Given the description of an element on the screen output the (x, y) to click on. 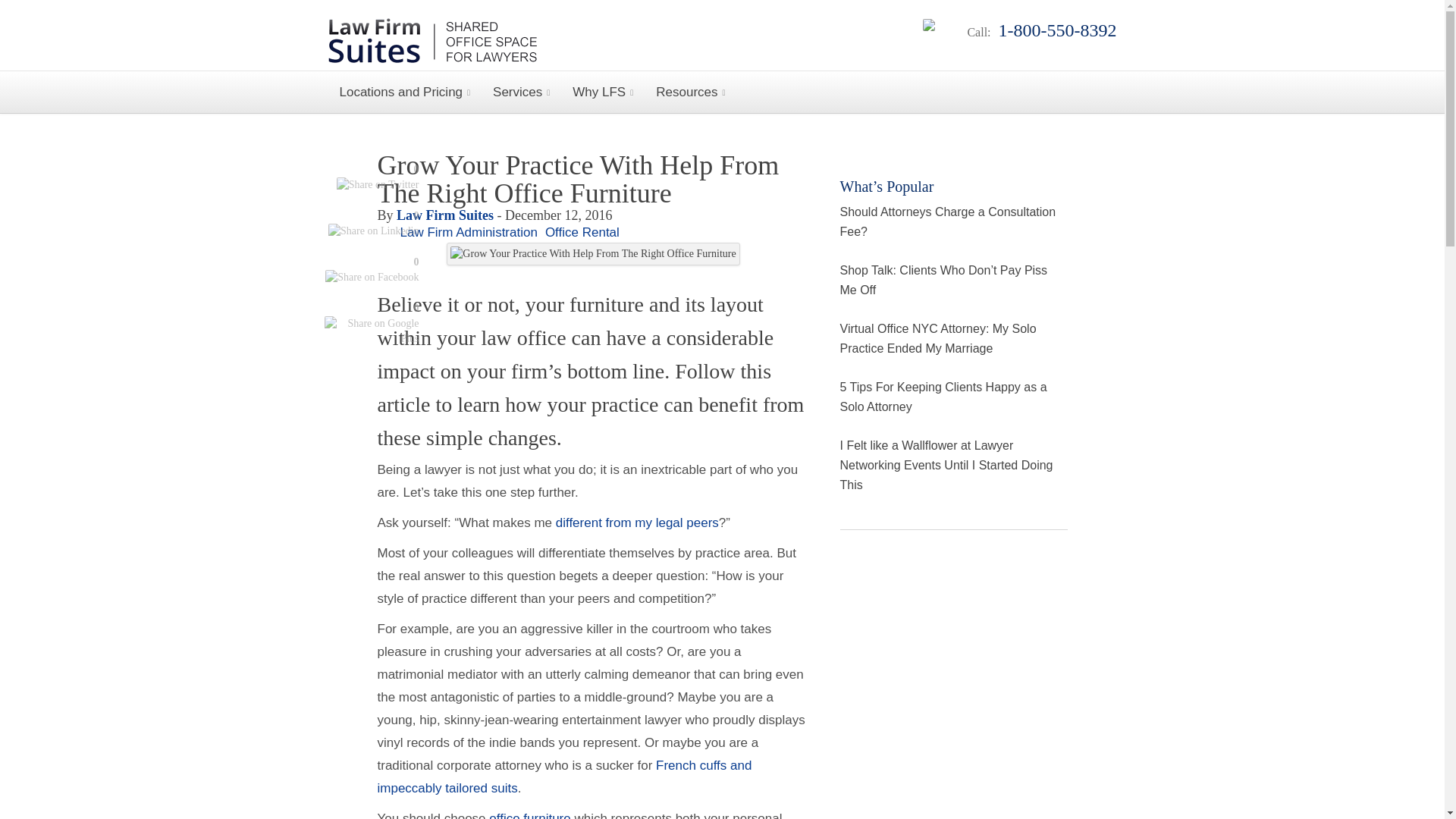
Locations and Pricing (404, 92)
Law Firm Administration (468, 232)
Should Attorneys Charge a Consultation Fee? (948, 221)
5 Tips For Keeping Clients Happy as a Solo Attorney (943, 396)
Resources (690, 92)
different from my legal peers (637, 522)
French cuffs and impeccably tailored suits (564, 776)
office furniture (528, 815)
